Given the description of an element on the screen output the (x, y) to click on. 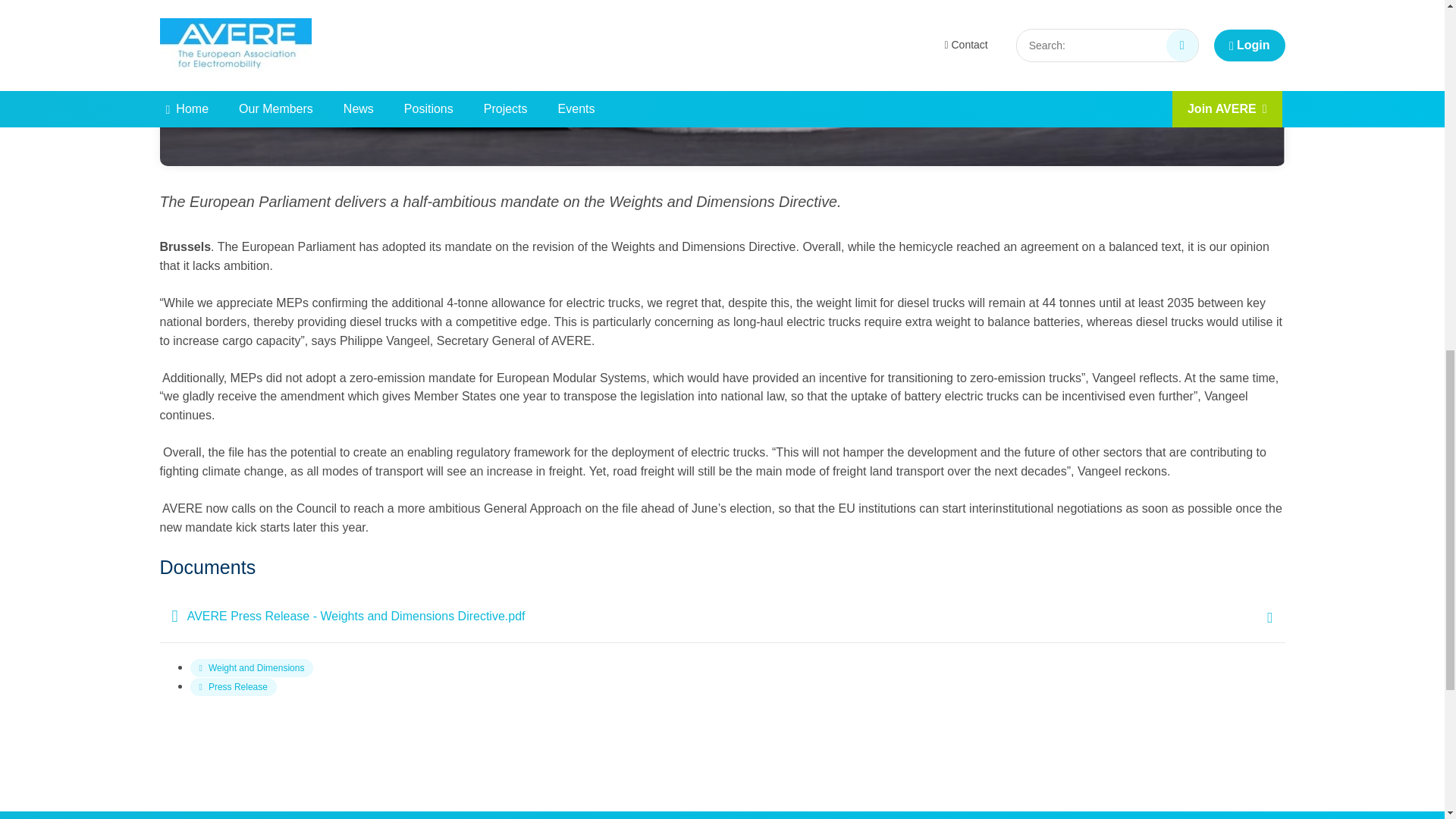
Press Release (232, 687)
Show posts with the tag "Press Release" (232, 687)
Show posts with the tag "Weight and Dimensions" (251, 668)
Weight and Dimensions (251, 668)
AVERE Press Release - Weights and Dimensions Directive.pdf (721, 616)
